Given the description of an element on the screen output the (x, y) to click on. 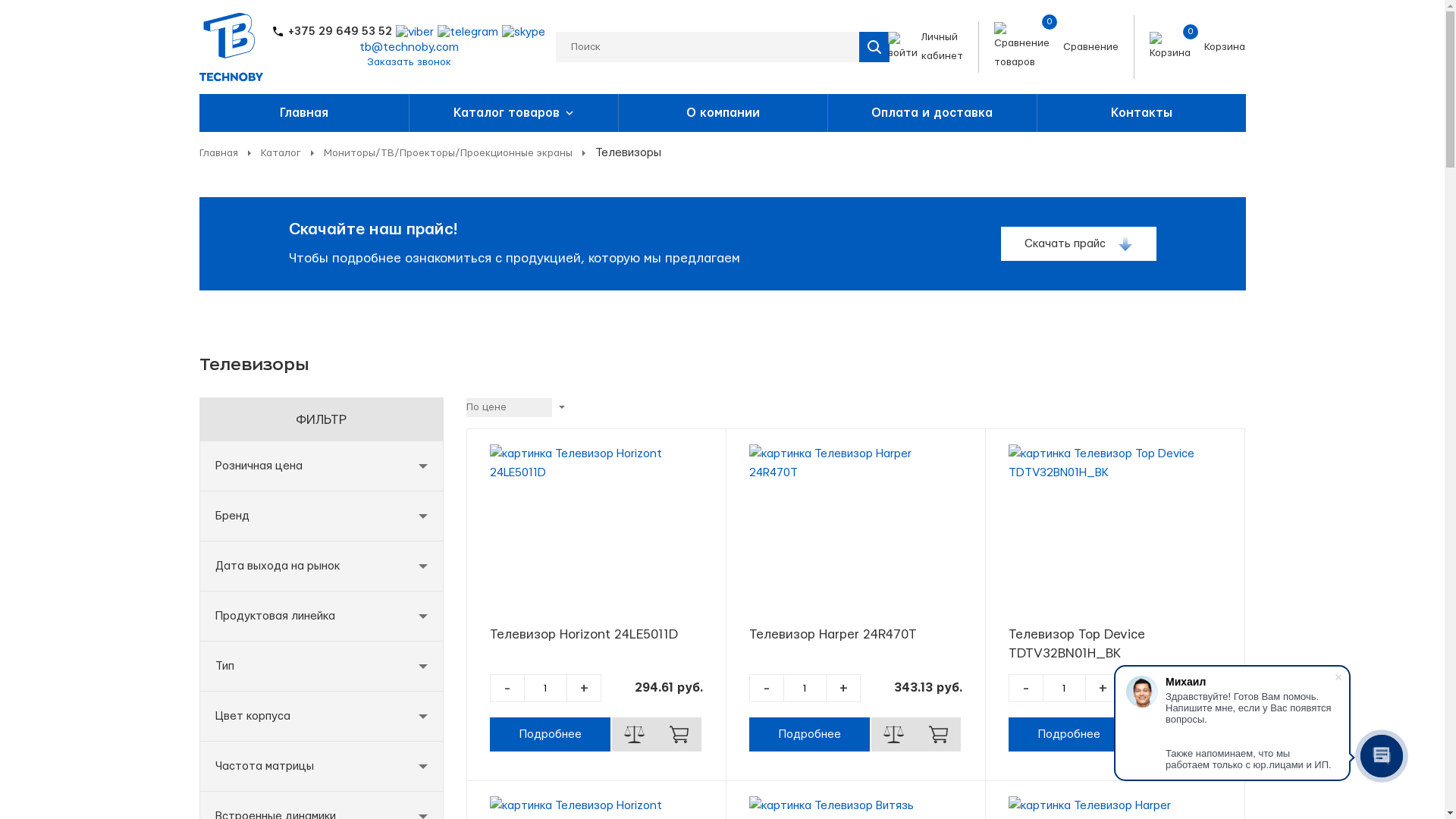
+375 29 649 53 52 Element type: text (332, 31)
tb@technoby.com Element type: text (408, 47)
